Given the description of an element on the screen output the (x, y) to click on. 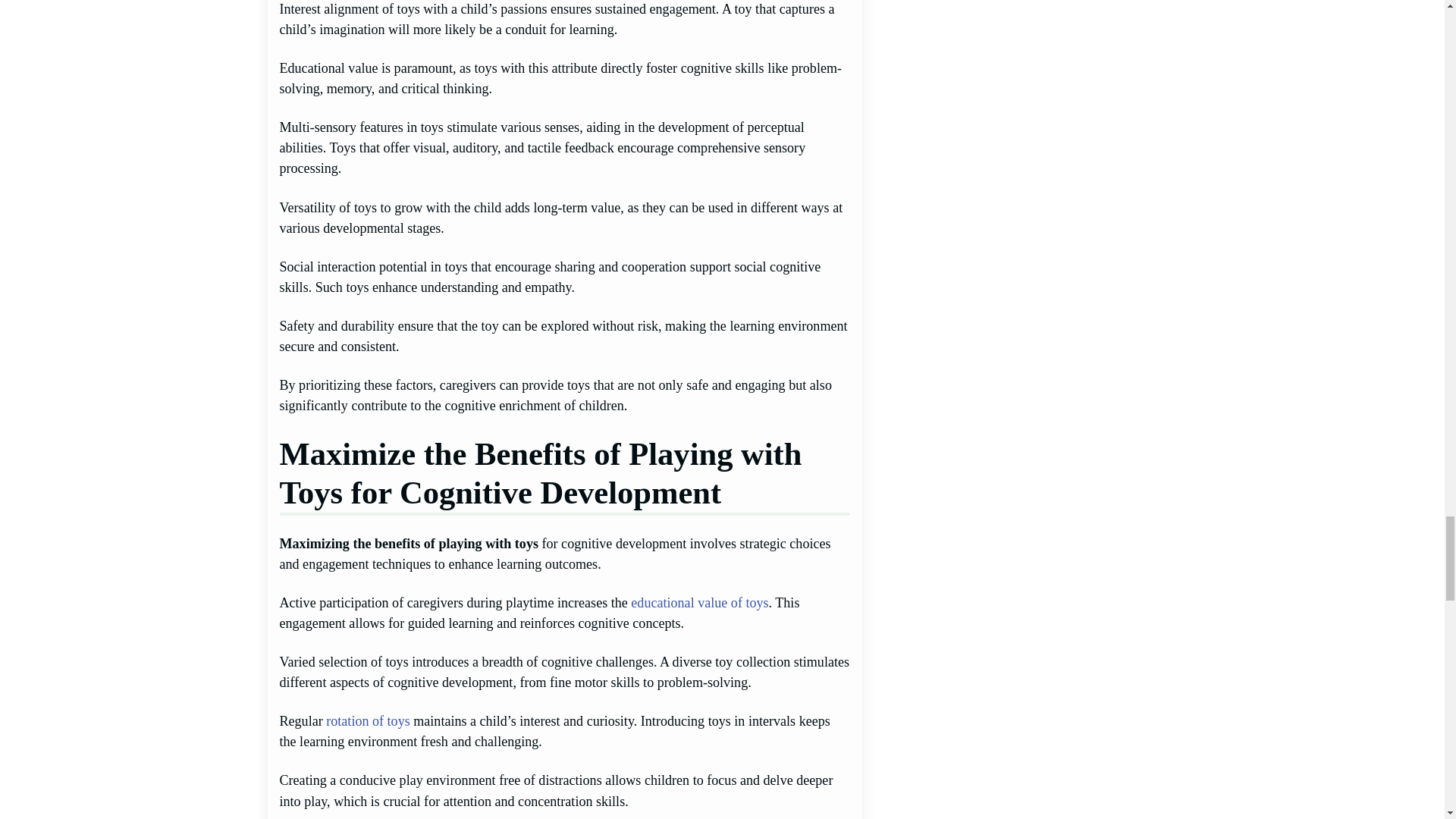
educational value of toys (699, 602)
rotation of toys (367, 720)
